Given the description of an element on the screen output the (x, y) to click on. 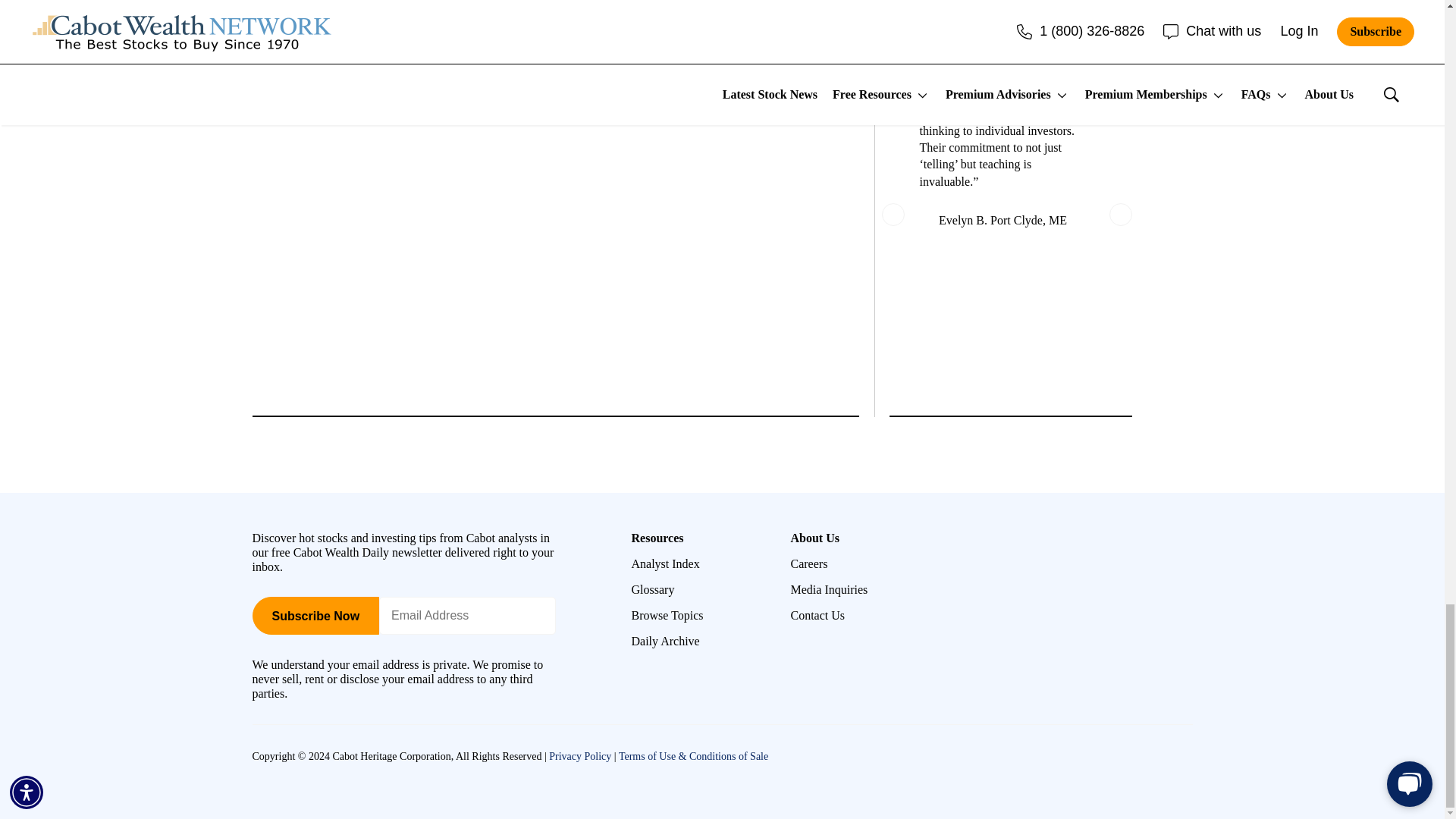
Subscribe  Now (314, 615)
